Given the description of an element on the screen output the (x, y) to click on. 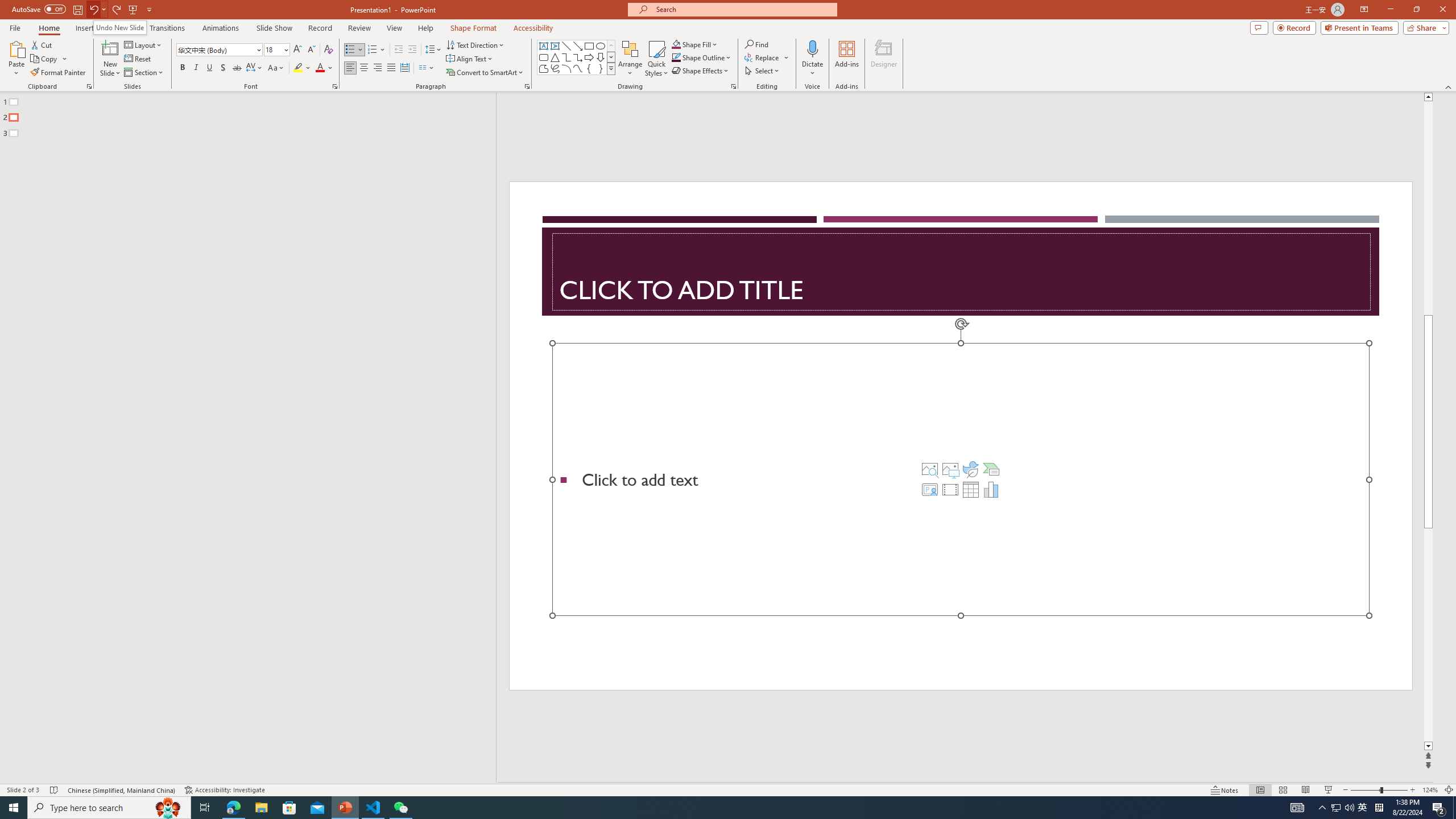
Pictures (949, 469)
